Given the description of an element on the screen output the (x, y) to click on. 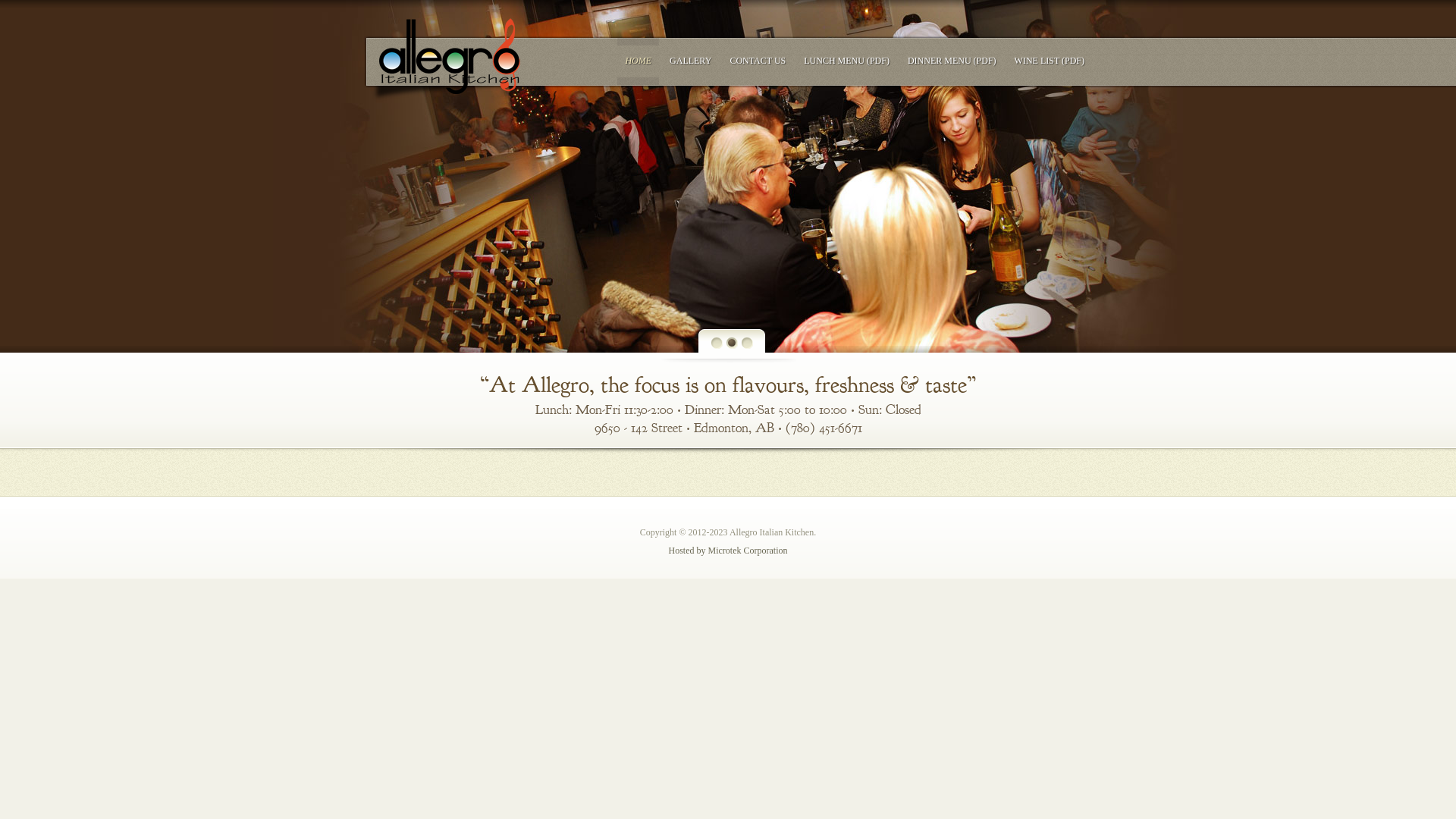
HOME Element type: text (637, 59)
Hosted by Microtek Corporation Element type: text (727, 550)
CONTACT US Element type: text (757, 60)
LUNCH MENU (PDF) Element type: text (846, 60)
WINE LIST (PDF) Element type: text (1049, 60)
DINNER MENU (PDF) Element type: text (952, 60)
GALLERY Element type: text (690, 60)
2 Element type: text (731, 342)
1 Element type: text (716, 342)
3 Element type: text (747, 342)
